Given the description of an element on the screen output the (x, y) to click on. 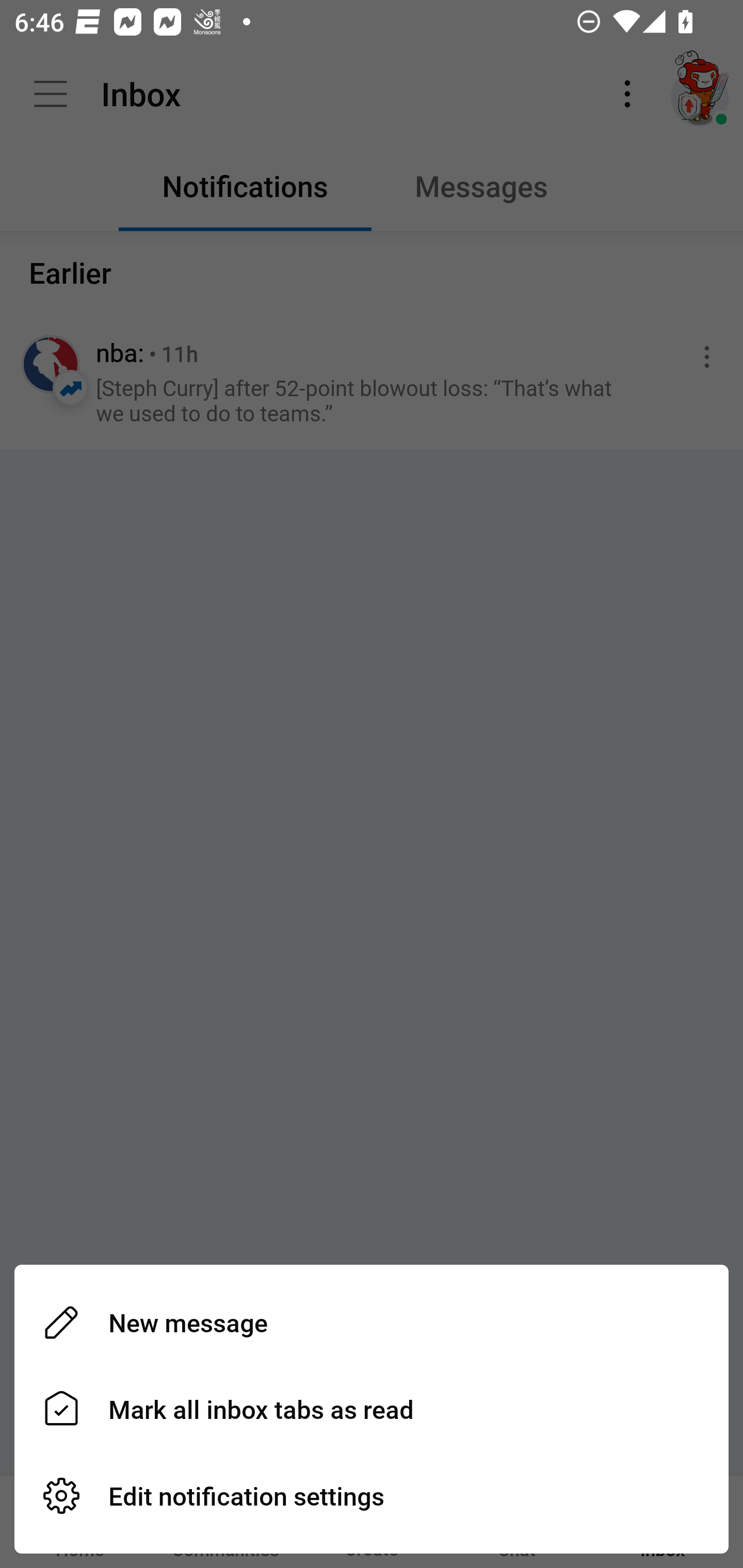
New message (371, 1322)
Mark all inbox tabs as read (371, 1408)
Edit notification settings (371, 1495)
